Given the description of an element on the screen output the (x, y) to click on. 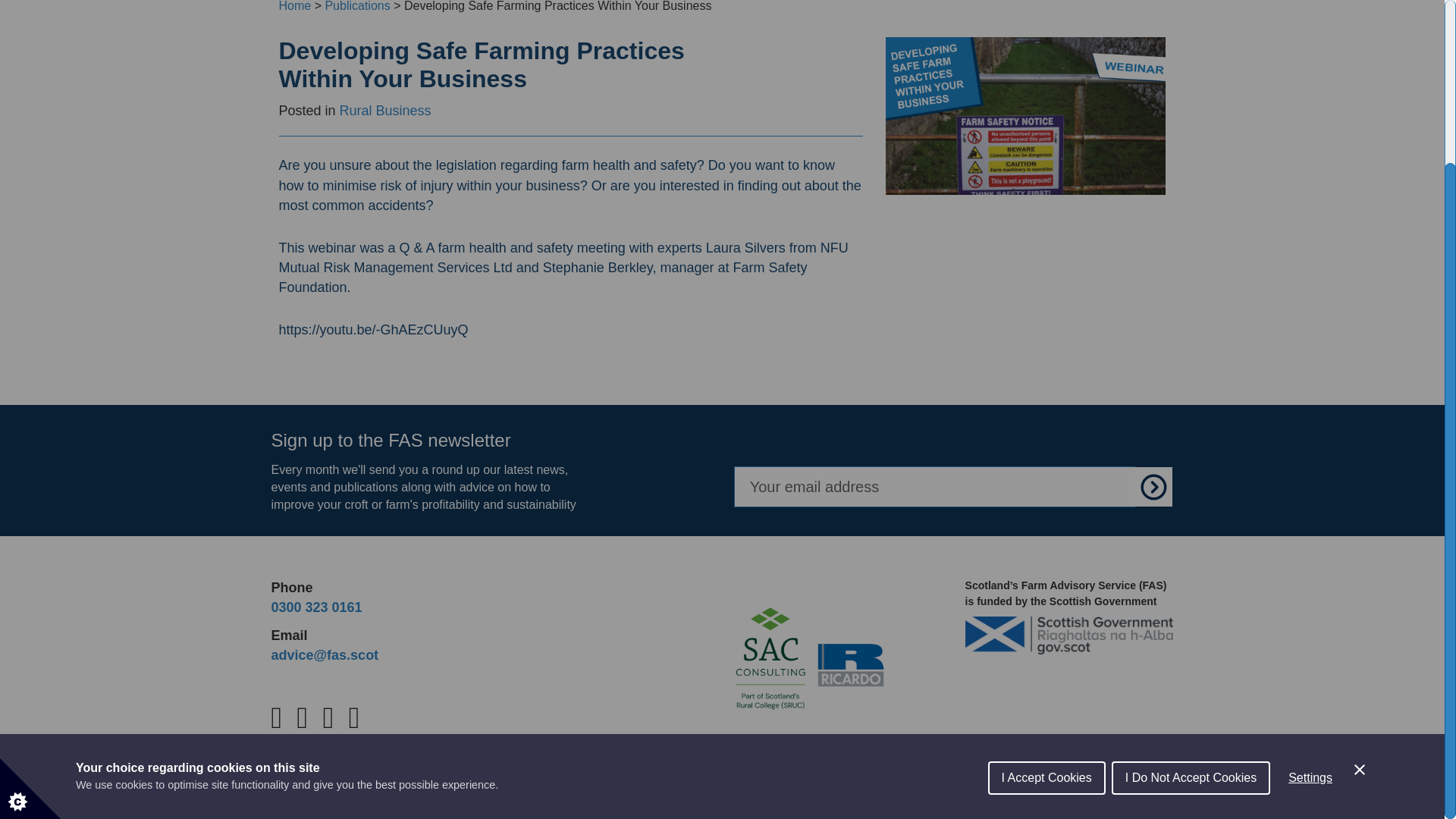
Settings (1309, 598)
I Accept Cookies (1046, 632)
I Do Not Accept Cookies (1190, 610)
Submit (1154, 486)
